Given the description of an element on the screen output the (x, y) to click on. 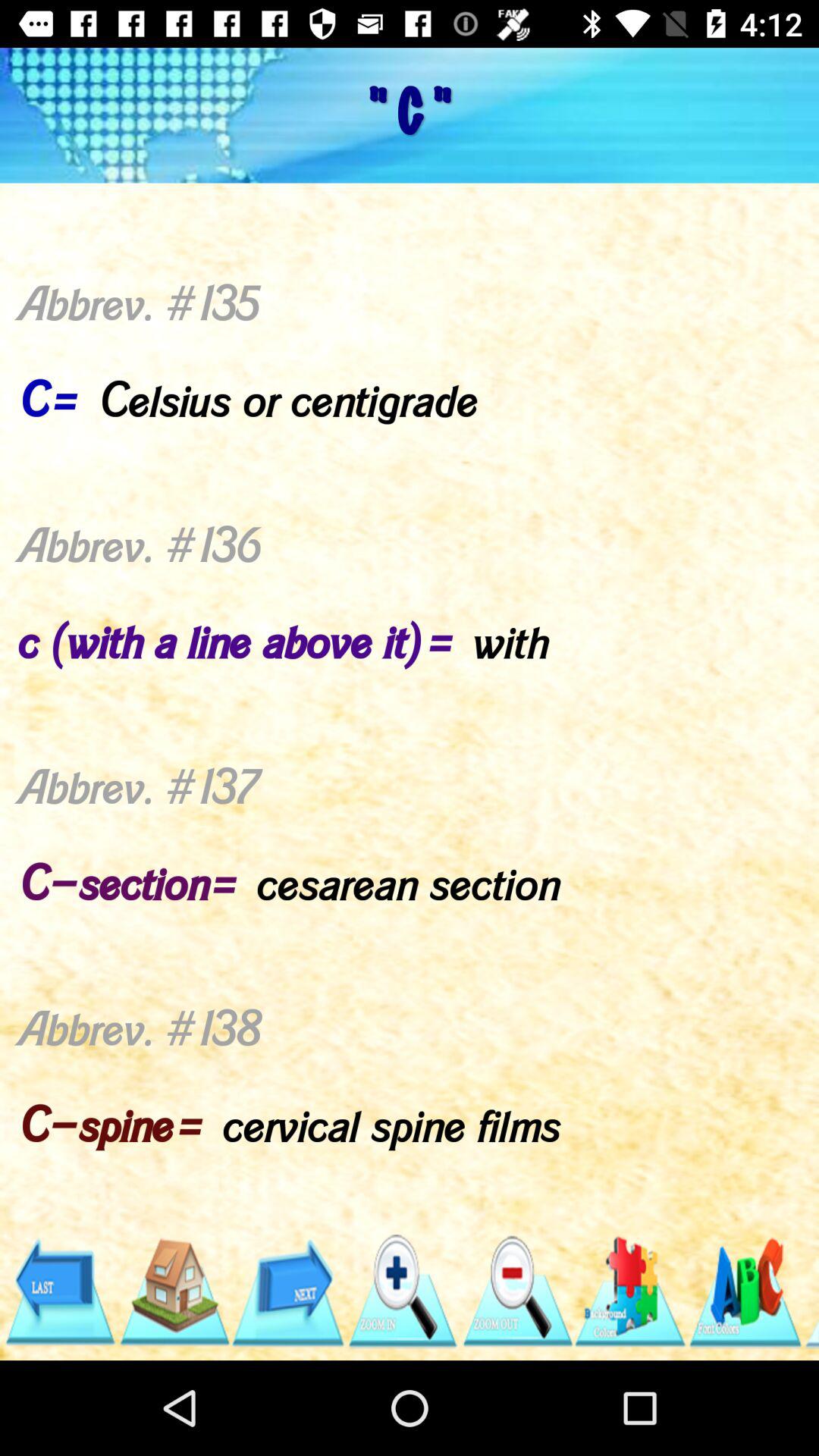
go back (59, 1291)
